Given the description of an element on the screen output the (x, y) to click on. 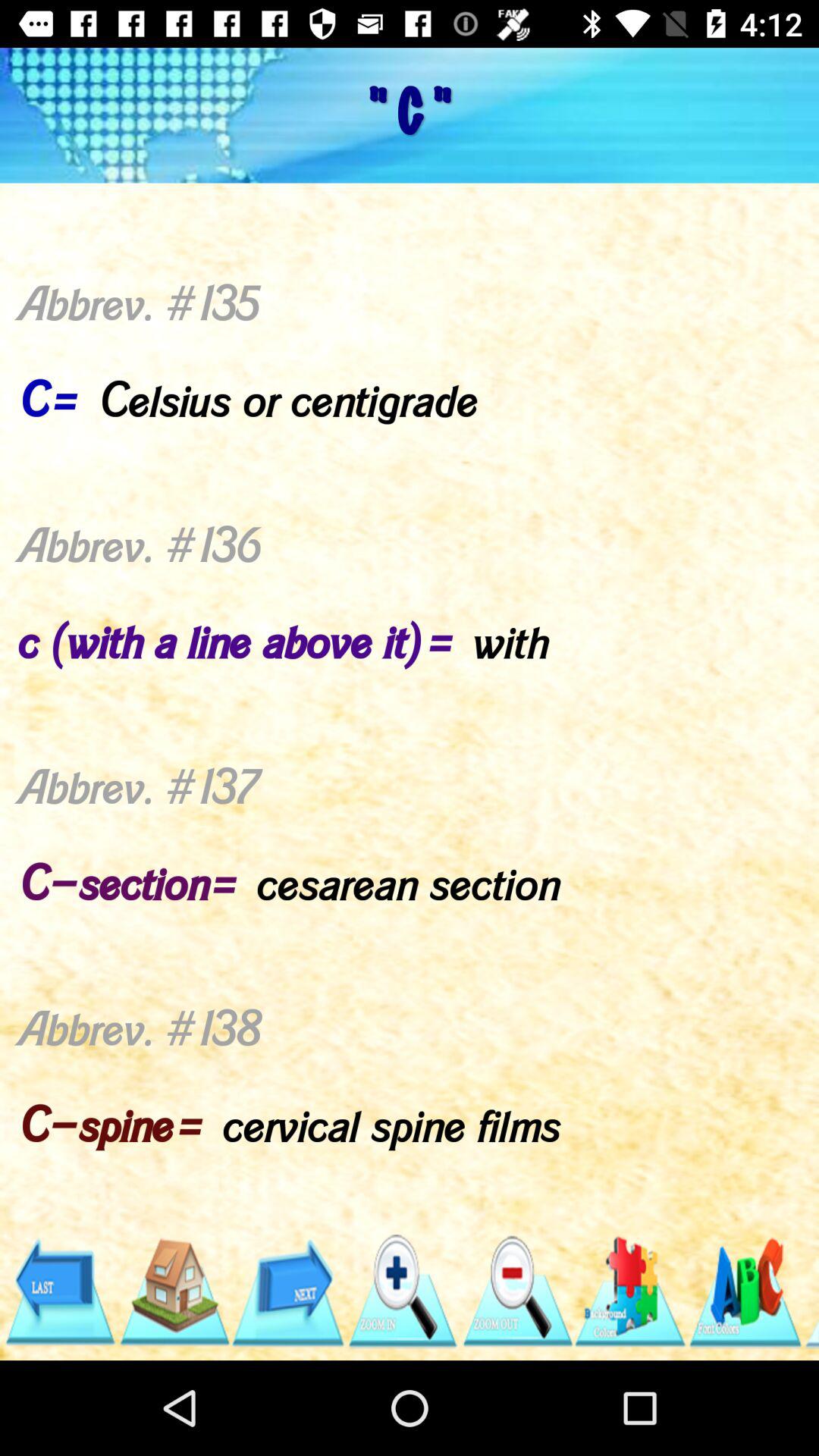
go back (59, 1291)
